Given the description of an element on the screen output the (x, y) to click on. 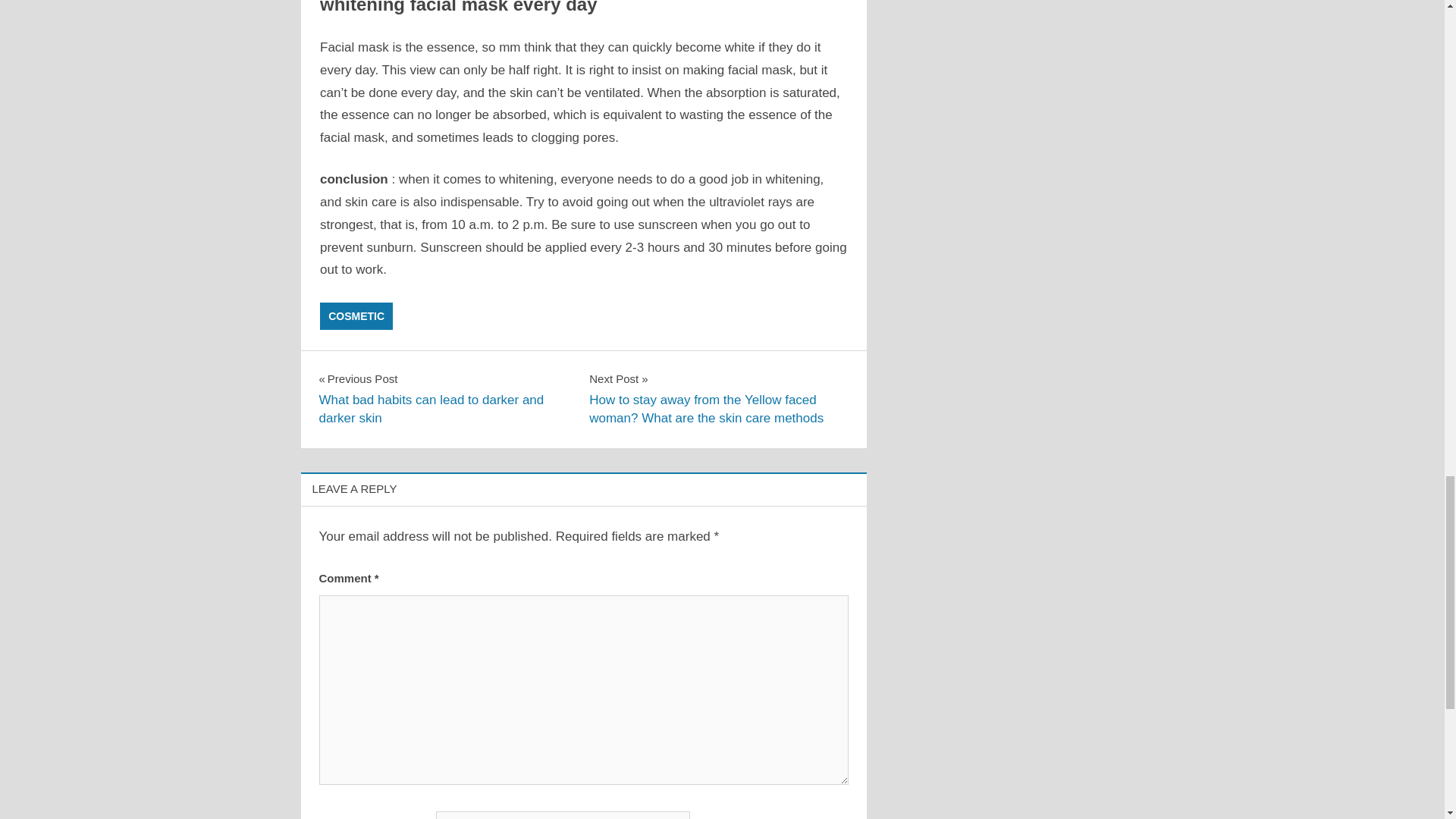
COSMETIC (356, 316)
